Given the description of an element on the screen output the (x, y) to click on. 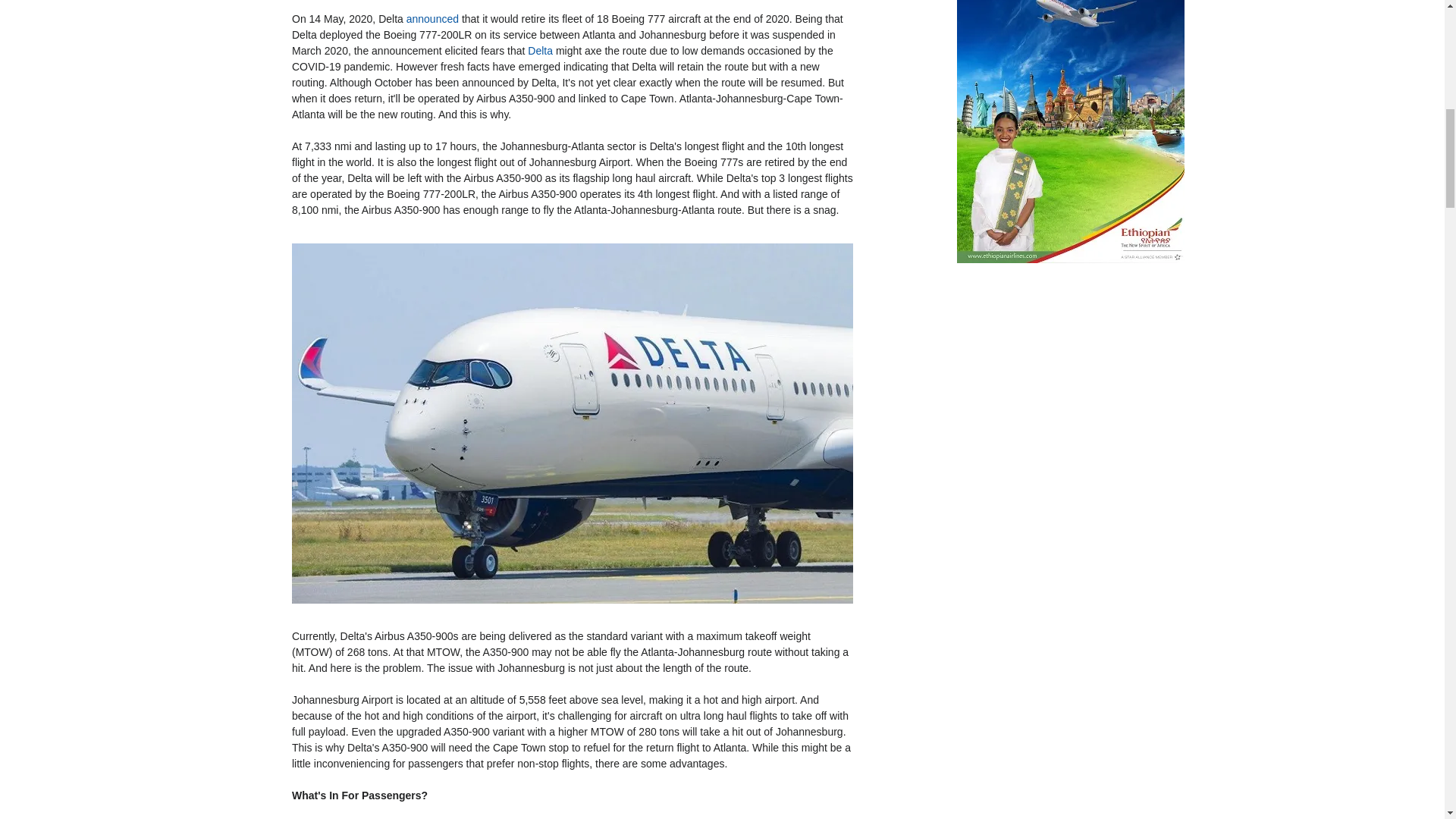
Delta (540, 50)
announced (432, 19)
